Given the description of an element on the screen output the (x, y) to click on. 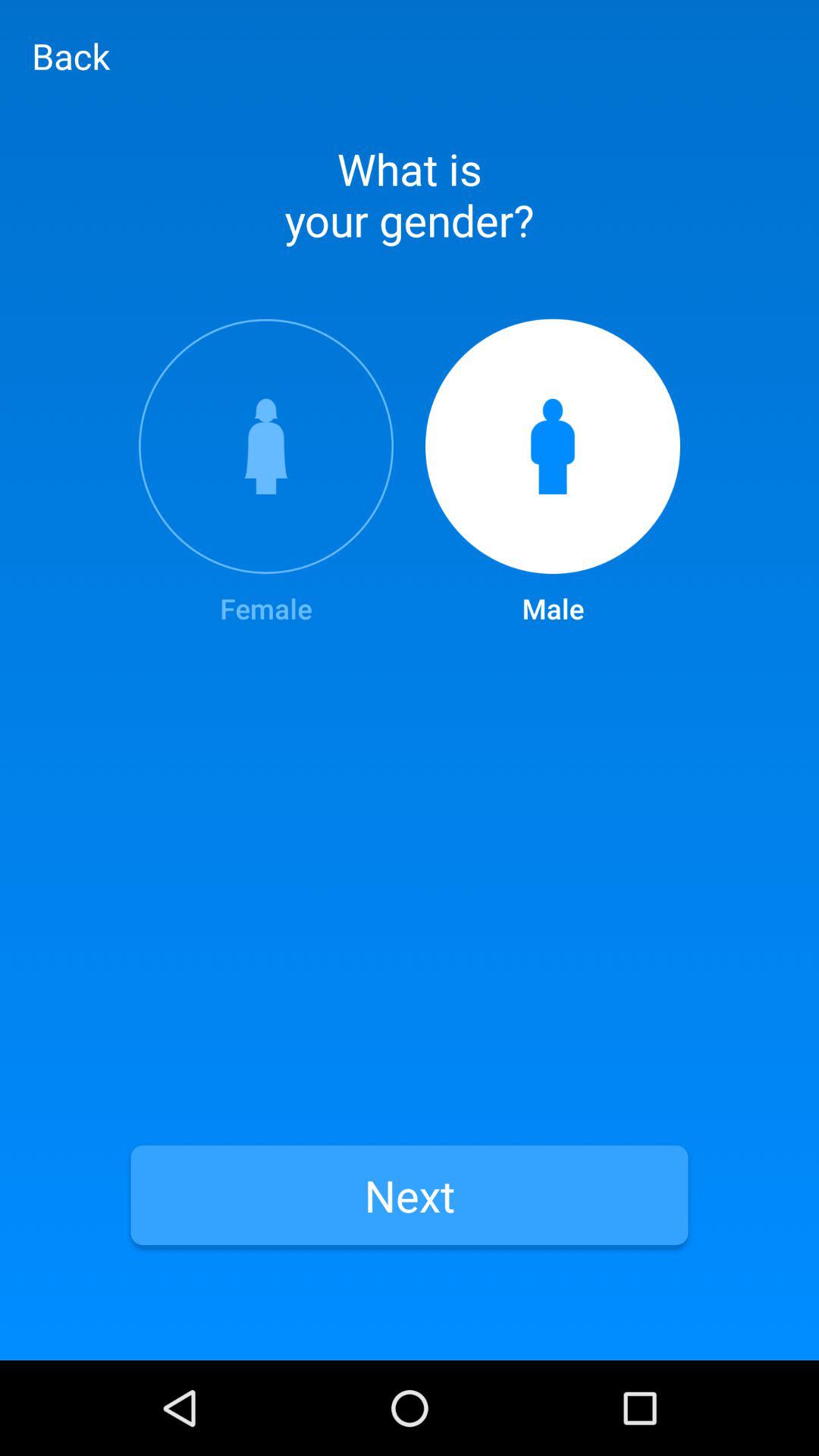
turn on item above what is your item (70, 55)
